Given the description of an element on the screen output the (x, y) to click on. 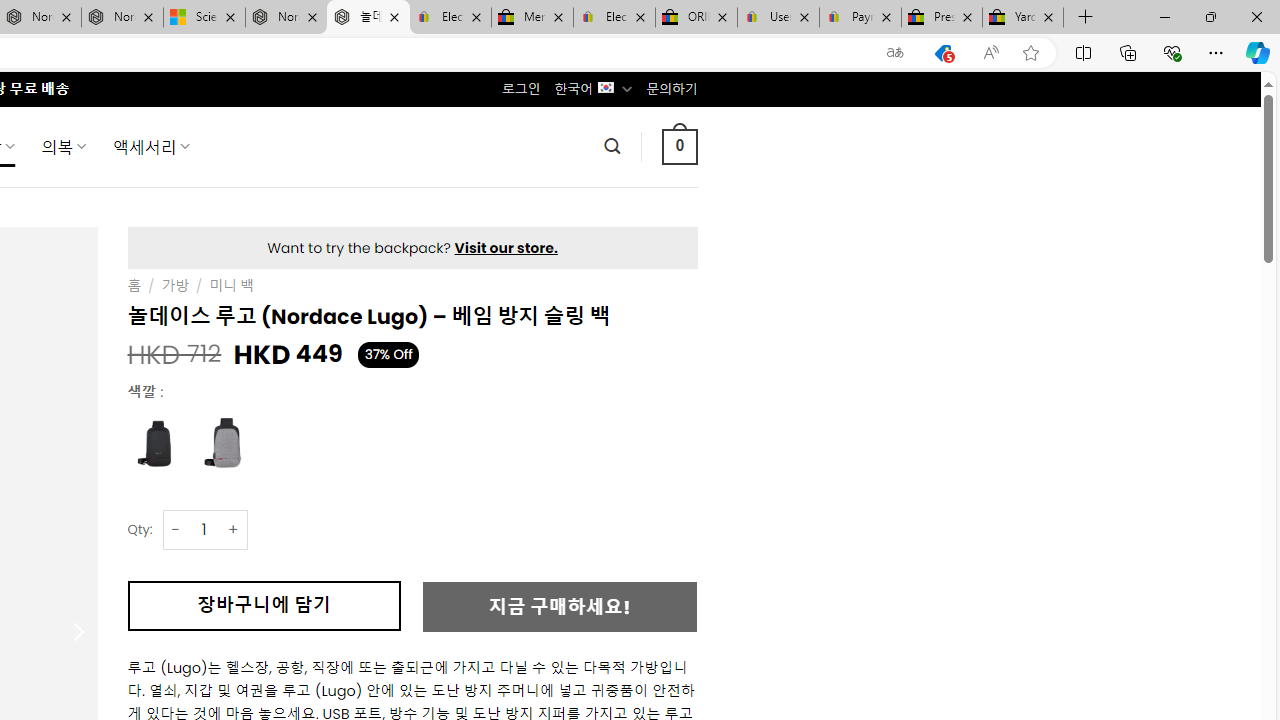
 0  (679, 146)
This site has coupons! Shopping in Microsoft Edge, 5 (943, 53)
  0   (679, 146)
